Given the description of an element on the screen output the (x, y) to click on. 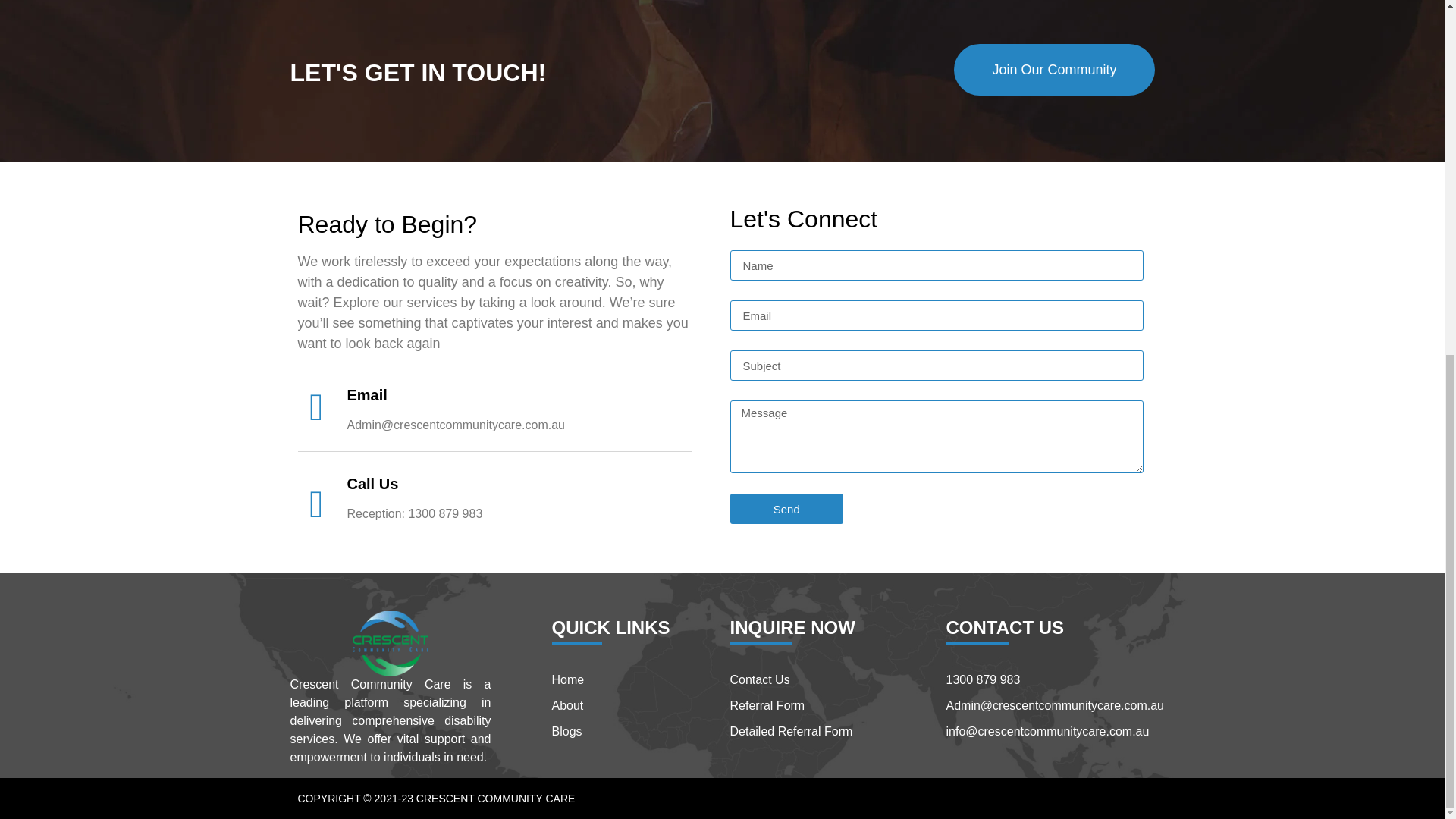
Crescent-Community-Care-logo (390, 642)
